Given the description of an element on the screen output the (x, y) to click on. 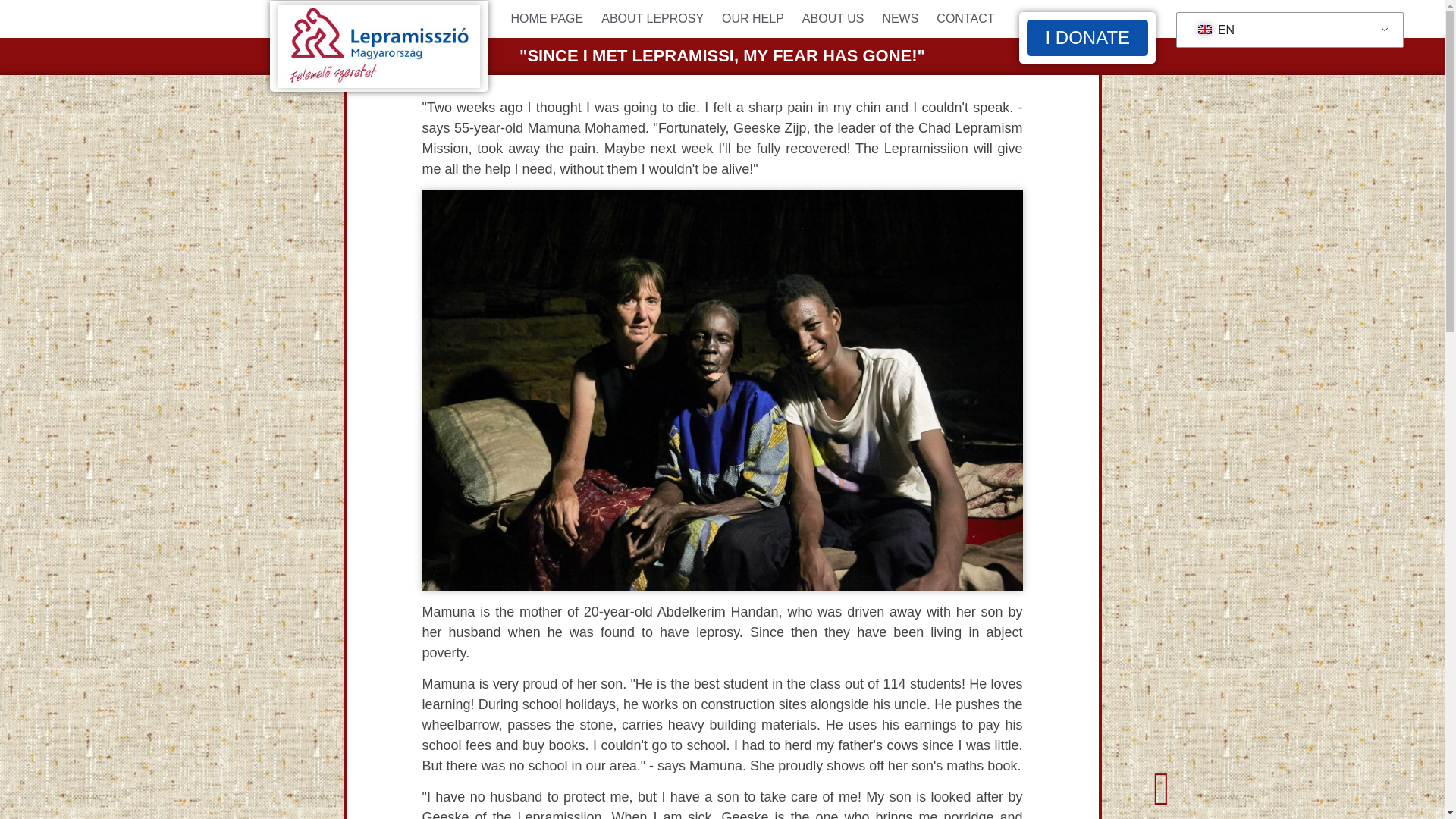
HOME PAGE (546, 19)
OUR HELP (753, 19)
English (1286, 30)
English (1204, 29)
ABOUT US (833, 19)
ABOUT LEPROSY (652, 19)
